Given the description of an element on the screen output the (x, y) to click on. 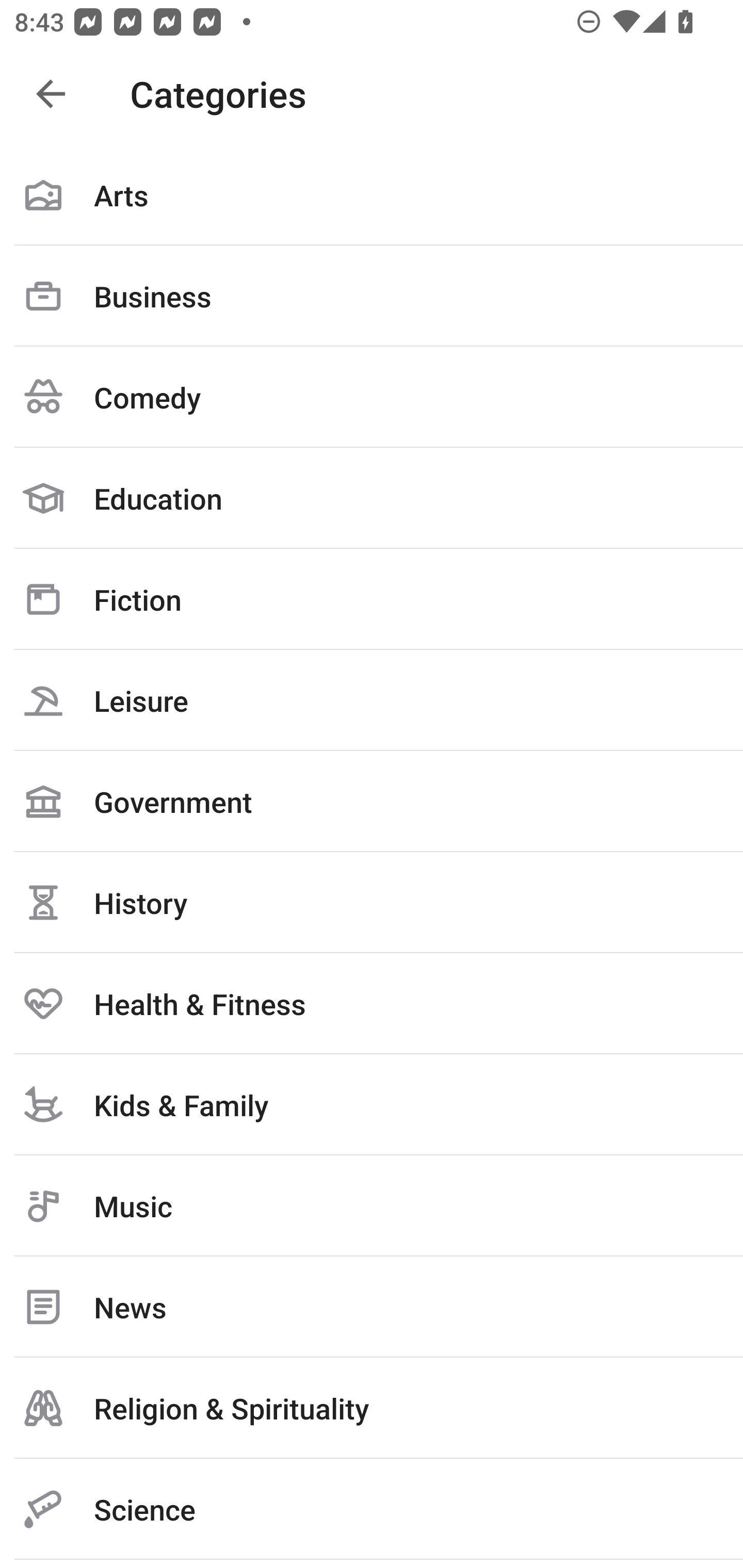
Navigate up (50, 93)
Arts (371, 195)
Business (371, 296)
Comedy (371, 397)
Education (371, 498)
Fiction (371, 598)
Leisure (371, 700)
Government (371, 801)
History (371, 902)
Health & Fitness (371, 1003)
Kids & Family (371, 1104)
Music (371, 1205)
News (371, 1306)
Religion & Spirituality (371, 1407)
Science (371, 1509)
